Given the description of an element on the screen output the (x, y) to click on. 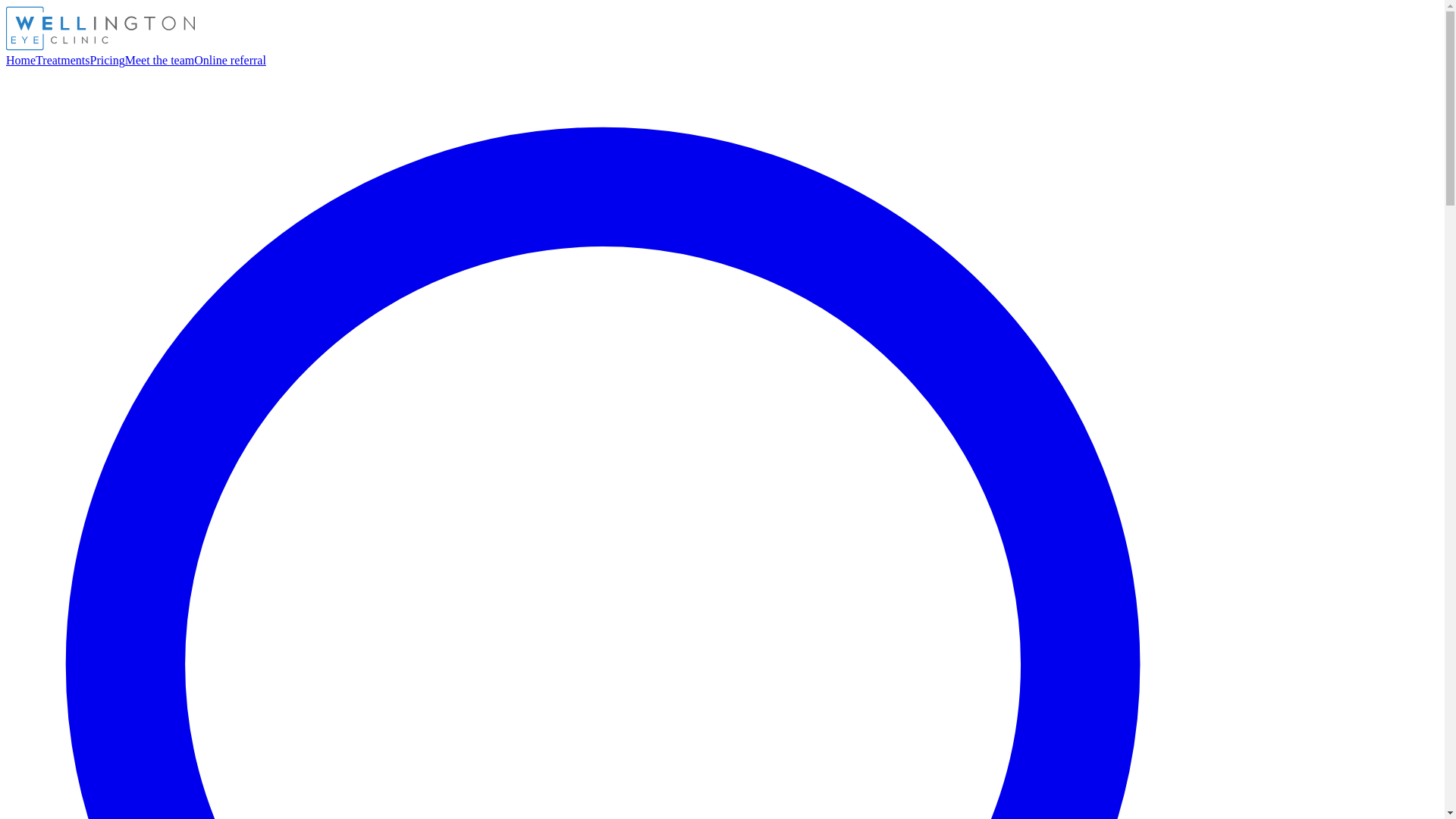
Meet the team (160, 60)
Treatments (61, 60)
Pricing (107, 60)
Home (19, 60)
Online referral (229, 60)
